Given the description of an element on the screen output the (x, y) to click on. 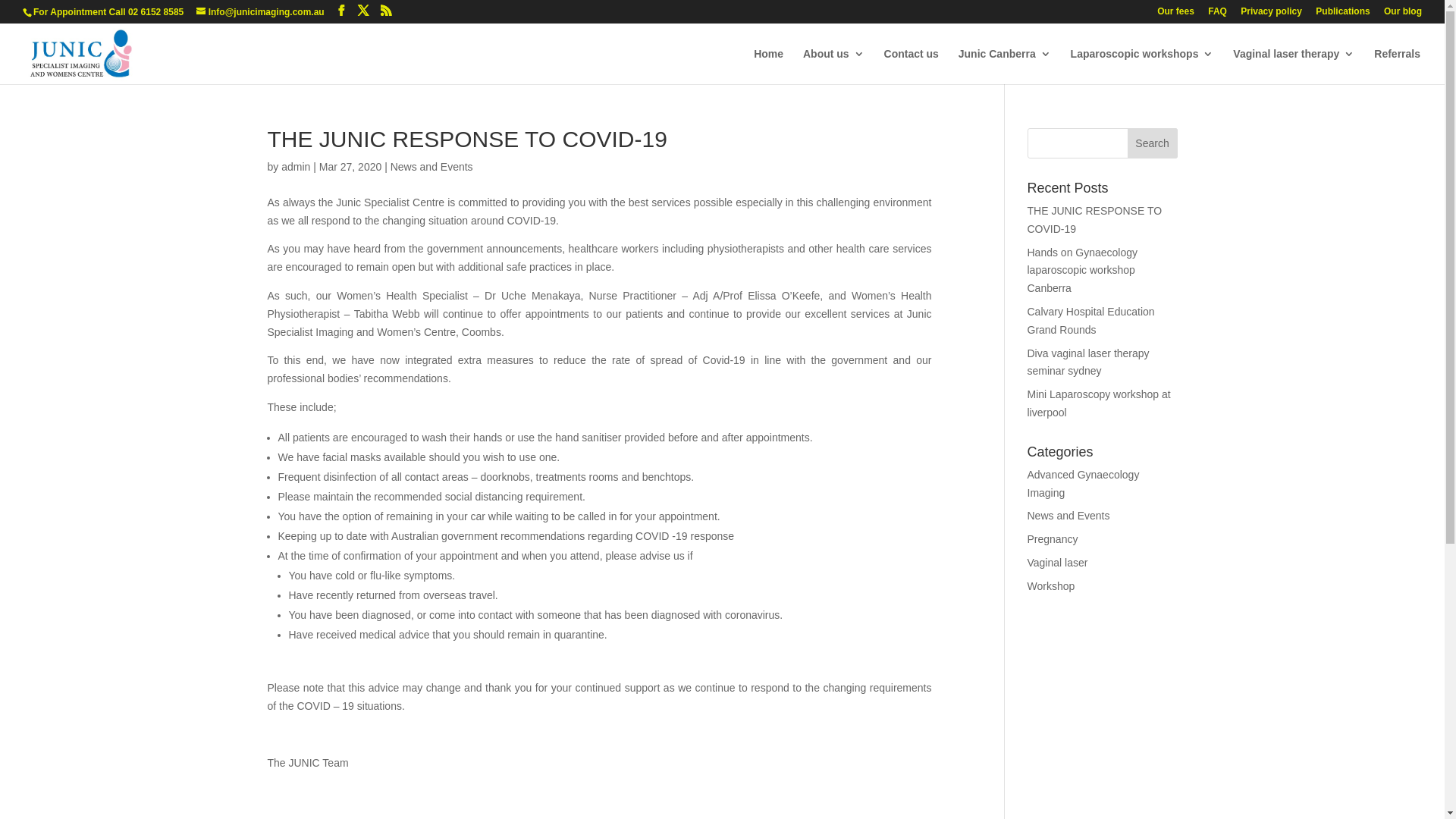
Calvary Hospital Education Grand Rounds Element type: text (1090, 320)
Referrals Element type: text (1397, 66)
Info@junicimaging.com.au Element type: text (260, 11)
Our fees Element type: text (1175, 14)
Junic Canberra Element type: text (1004, 66)
Search Element type: text (1152, 143)
Laparoscopic workshops Element type: text (1142, 66)
Advanced Gynaecology Imaging Element type: text (1082, 483)
About us Element type: text (833, 66)
admin Element type: text (295, 166)
Privacy policy Element type: text (1271, 14)
Vaginal laser Element type: text (1056, 562)
Our blog Element type: text (1402, 14)
Contact us Element type: text (911, 66)
Vaginal laser therapy Element type: text (1293, 66)
News and Events Element type: text (431, 166)
Home Element type: text (768, 66)
THE JUNIC RESPONSE TO COVID-19 Element type: text (1093, 219)
Publications Element type: text (1342, 14)
Mini Laparoscopy workshop at liverpool Element type: text (1098, 403)
Workshop Element type: text (1050, 586)
Diva vaginal laser therapy seminar sydney Element type: text (1087, 362)
Hands on Gynaecology laparoscopic workshop Canberra Element type: text (1081, 270)
FAQ Element type: text (1217, 14)
News and Events Element type: text (1067, 515)
Pregnancy Element type: text (1051, 539)
